Given the description of an element on the screen output the (x, y) to click on. 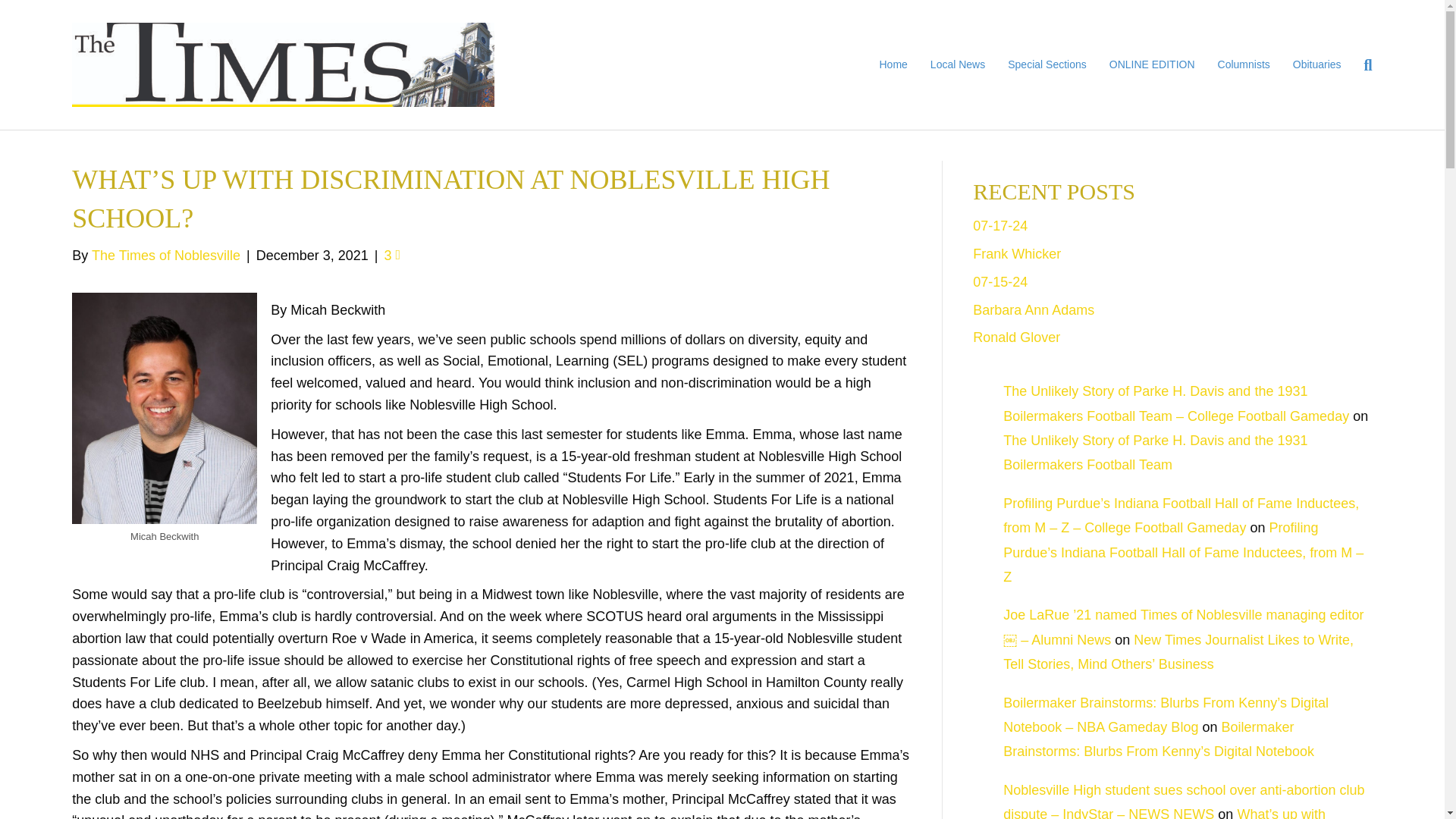
Columnists (1244, 64)
Home (892, 64)
Obituaries (1316, 64)
Special Sections (1046, 64)
ONLINE EDITION (1152, 64)
Local News (956, 64)
